Given the description of an element on the screen output the (x, y) to click on. 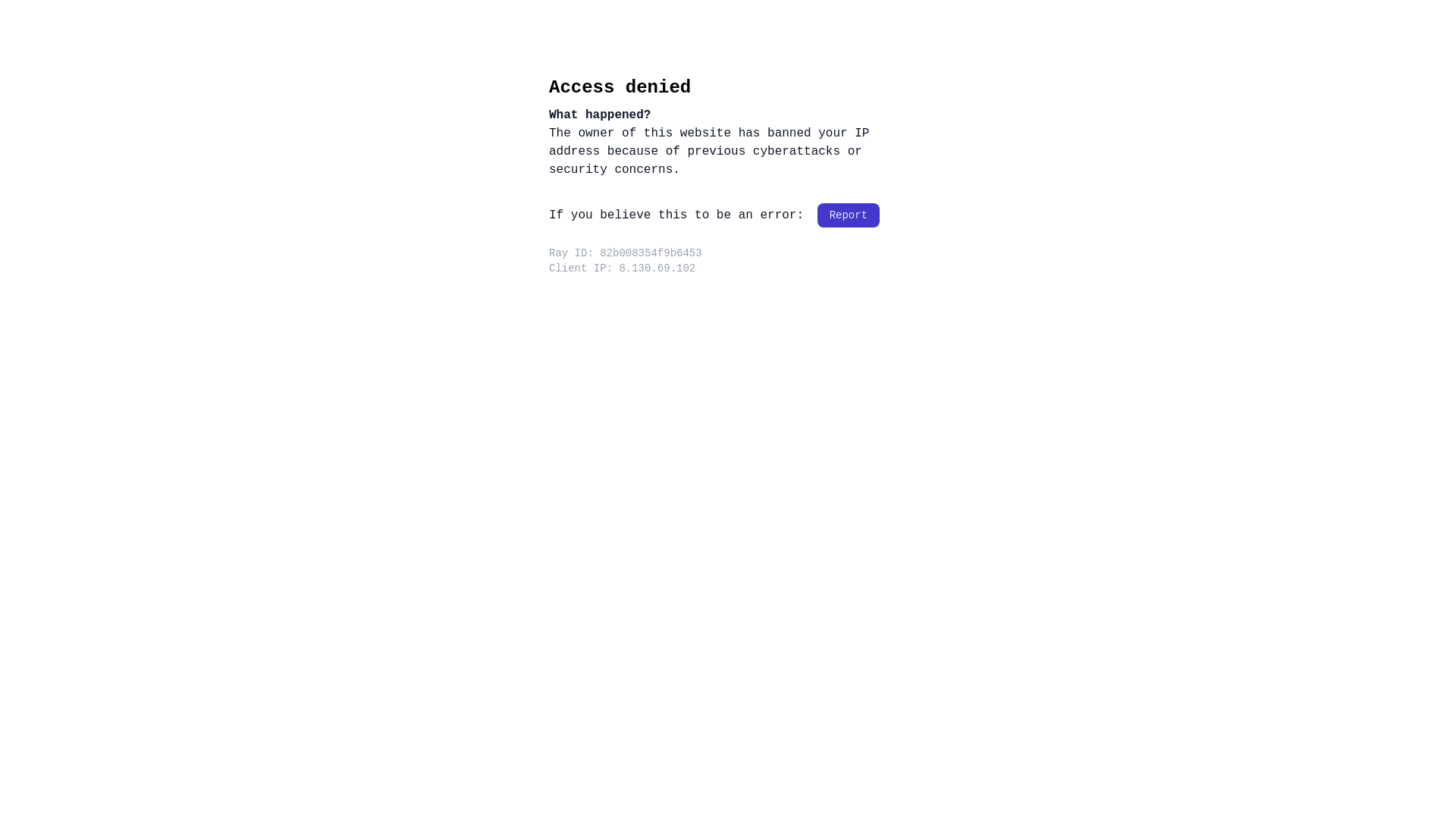
Report Element type: text (848, 215)
